Given the description of an element on the screen output the (x, y) to click on. 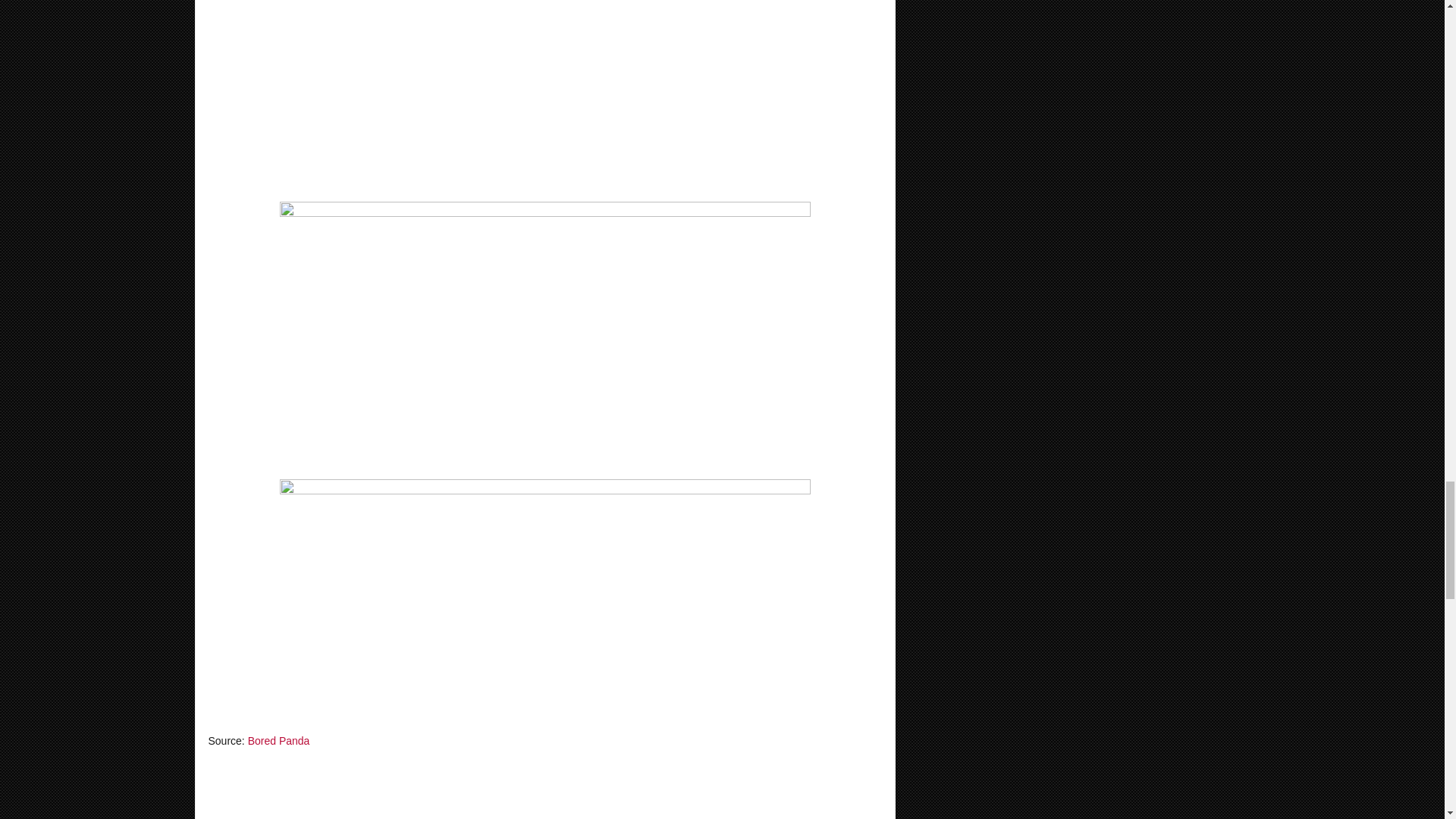
Bored Panda (278, 740)
